Given the description of an element on the screen output the (x, y) to click on. 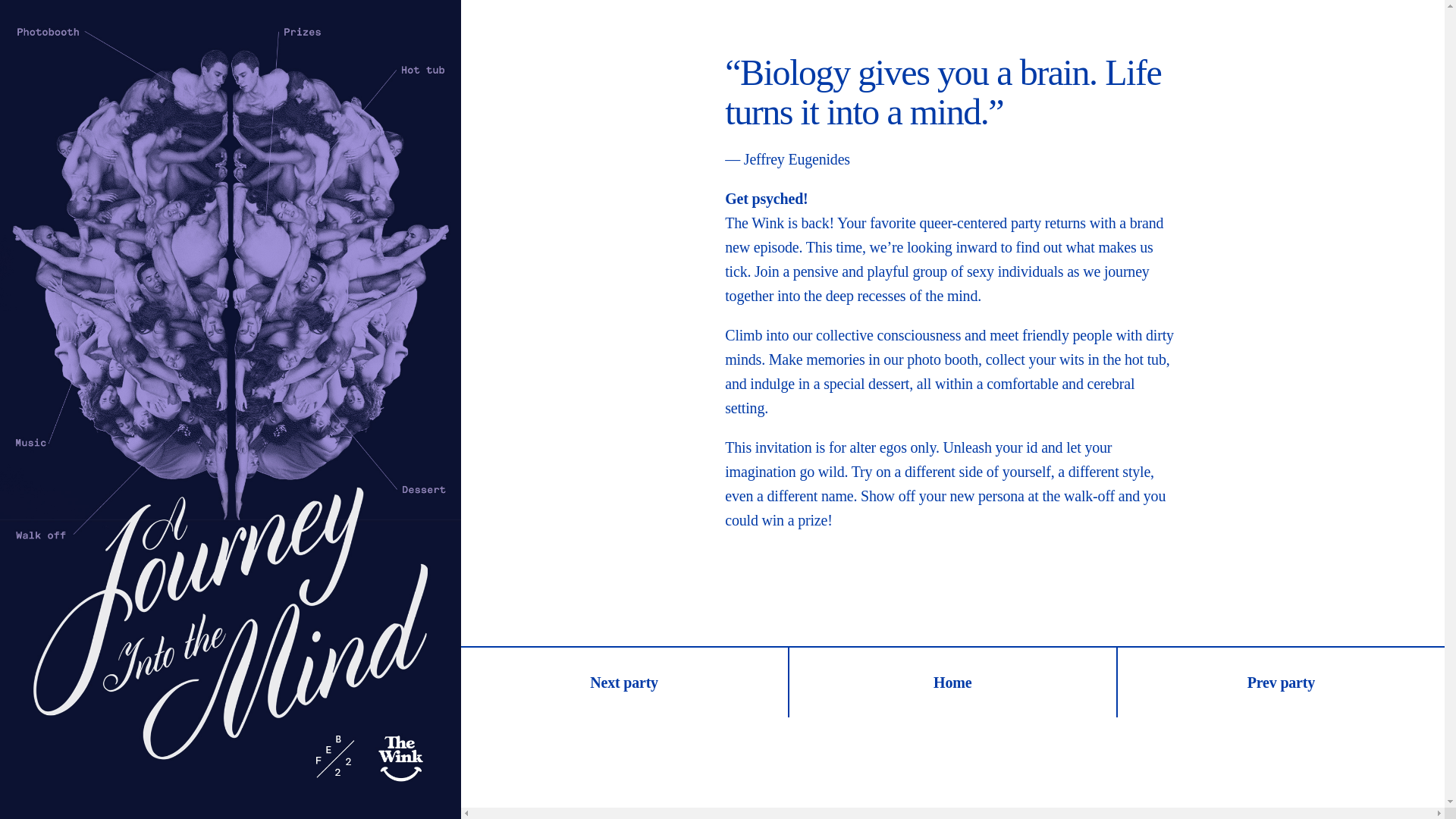
Next party (625, 682)
Prev party (1281, 682)
Home (953, 682)
